Given the description of an element on the screen output the (x, y) to click on. 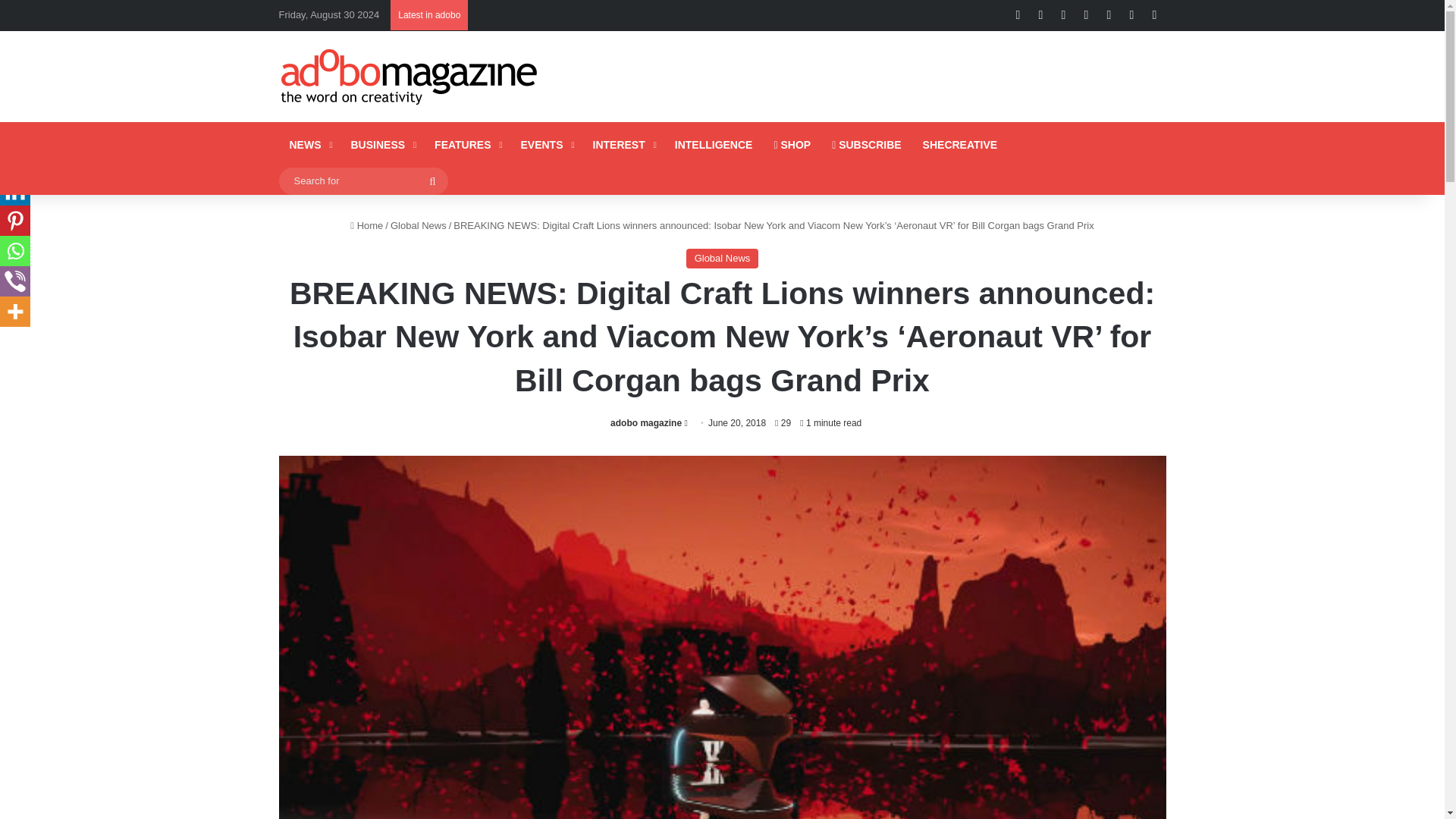
adobo Magazine Online (409, 76)
INTEREST (622, 144)
FEATURES (466, 144)
Search for (363, 180)
adobo magazine (645, 422)
NEWS (309, 144)
EVENTS (544, 144)
BUSINESS (381, 144)
